Given the description of an element on the screen output the (x, y) to click on. 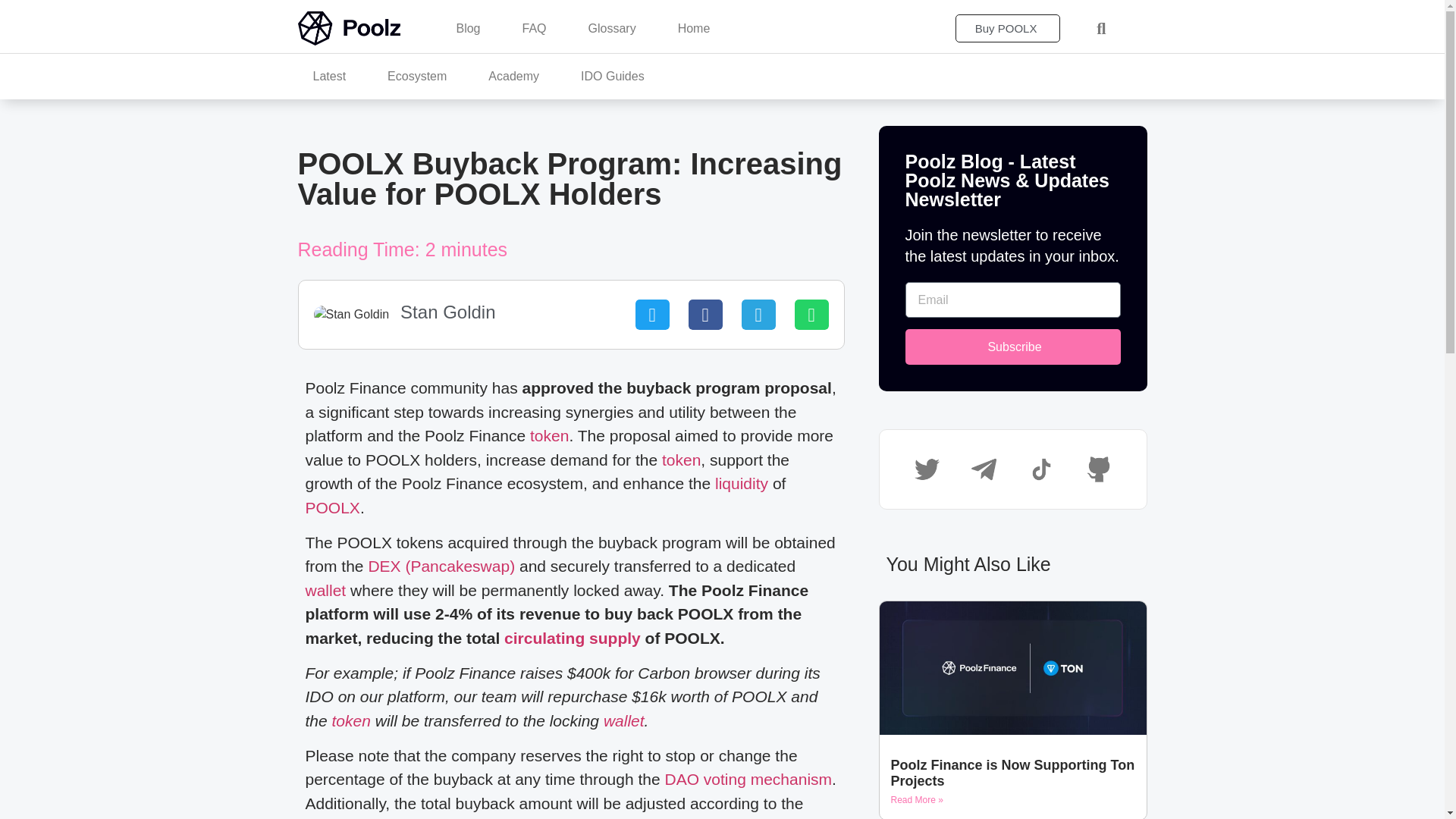
wallet (624, 720)
Blog (468, 28)
Latest (329, 76)
Ecosystem (416, 76)
Academy (513, 76)
token (351, 720)
circulating supply (571, 638)
Glossary (611, 28)
Home (693, 28)
POOLX (331, 507)
wallet (325, 589)
FAQ (533, 28)
Buy POOLX (1008, 28)
IDO Guides (612, 76)
liquidity (741, 483)
